Given the description of an element on the screen output the (x, y) to click on. 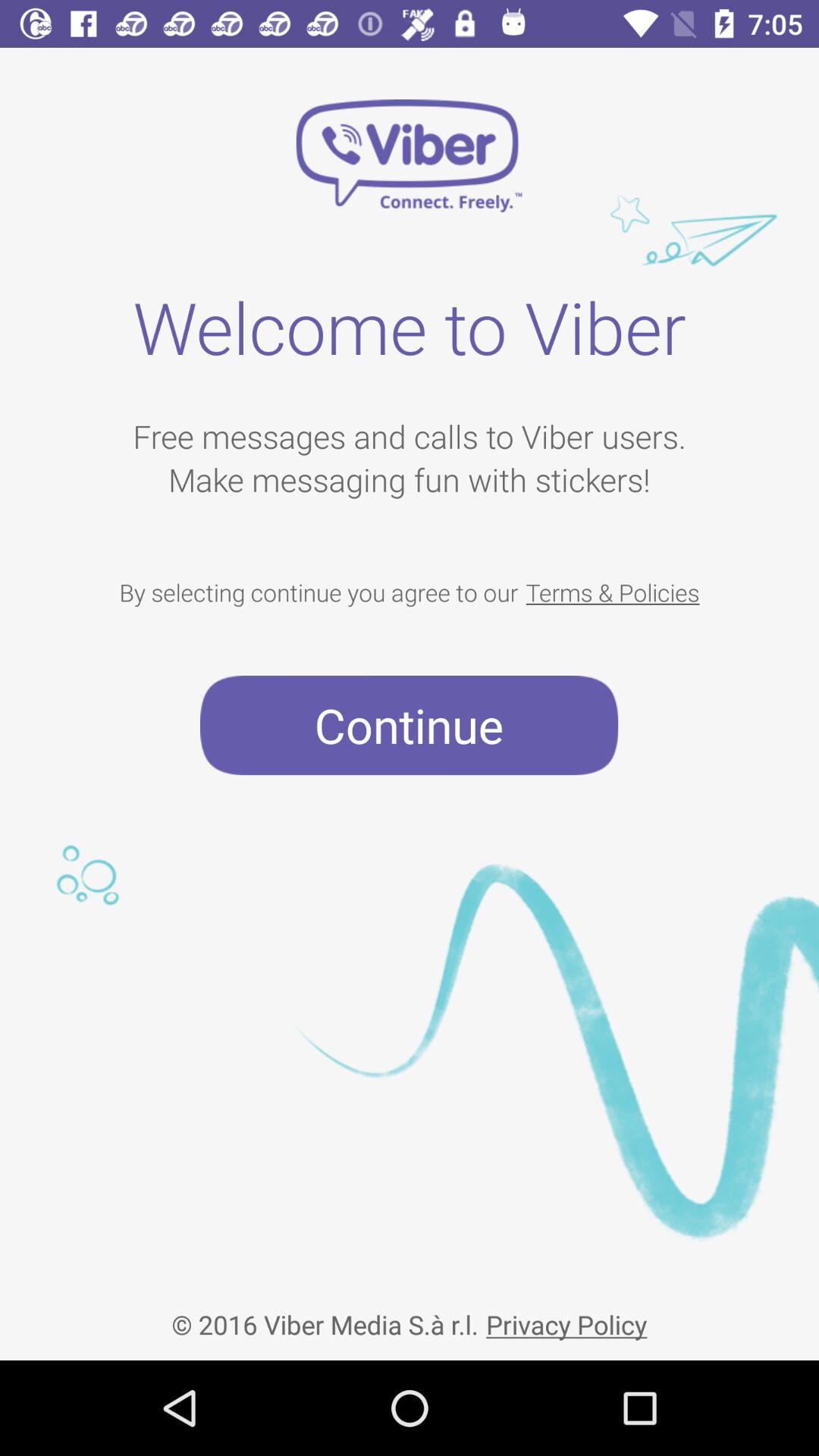
select the terms & policies (612, 592)
